Given the description of an element on the screen output the (x, y) to click on. 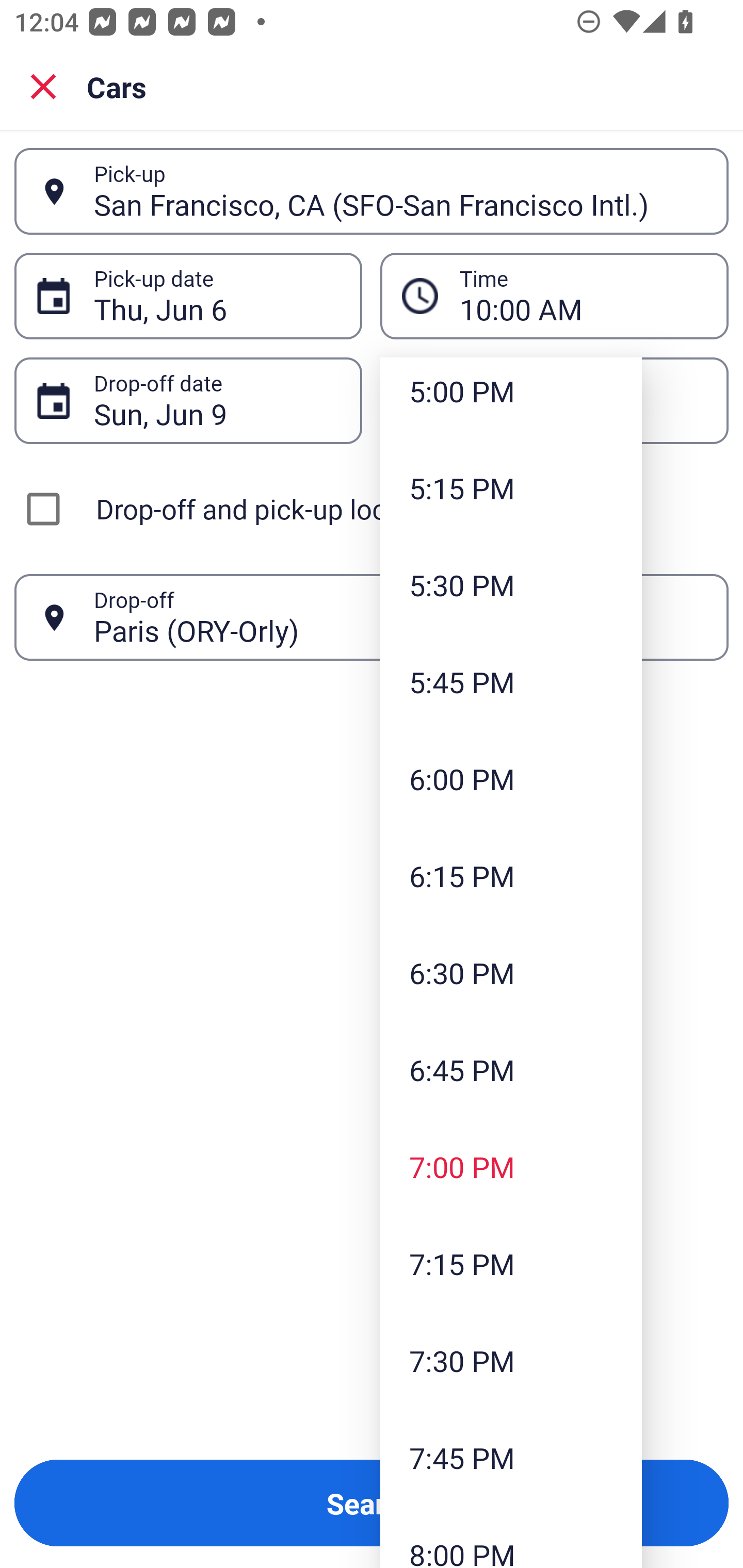
5:00 PM (510, 398)
5:15 PM (510, 487)
5:30 PM (510, 584)
5:45 PM (510, 681)
6:00 PM (510, 778)
6:15 PM (510, 875)
6:30 PM (510, 971)
6:45 PM (510, 1068)
7:00 PM (510, 1166)
7:15 PM (510, 1263)
7:30 PM (510, 1360)
7:45 PM (510, 1457)
8:00 PM (510, 1537)
